Given the description of an element on the screen output the (x, y) to click on. 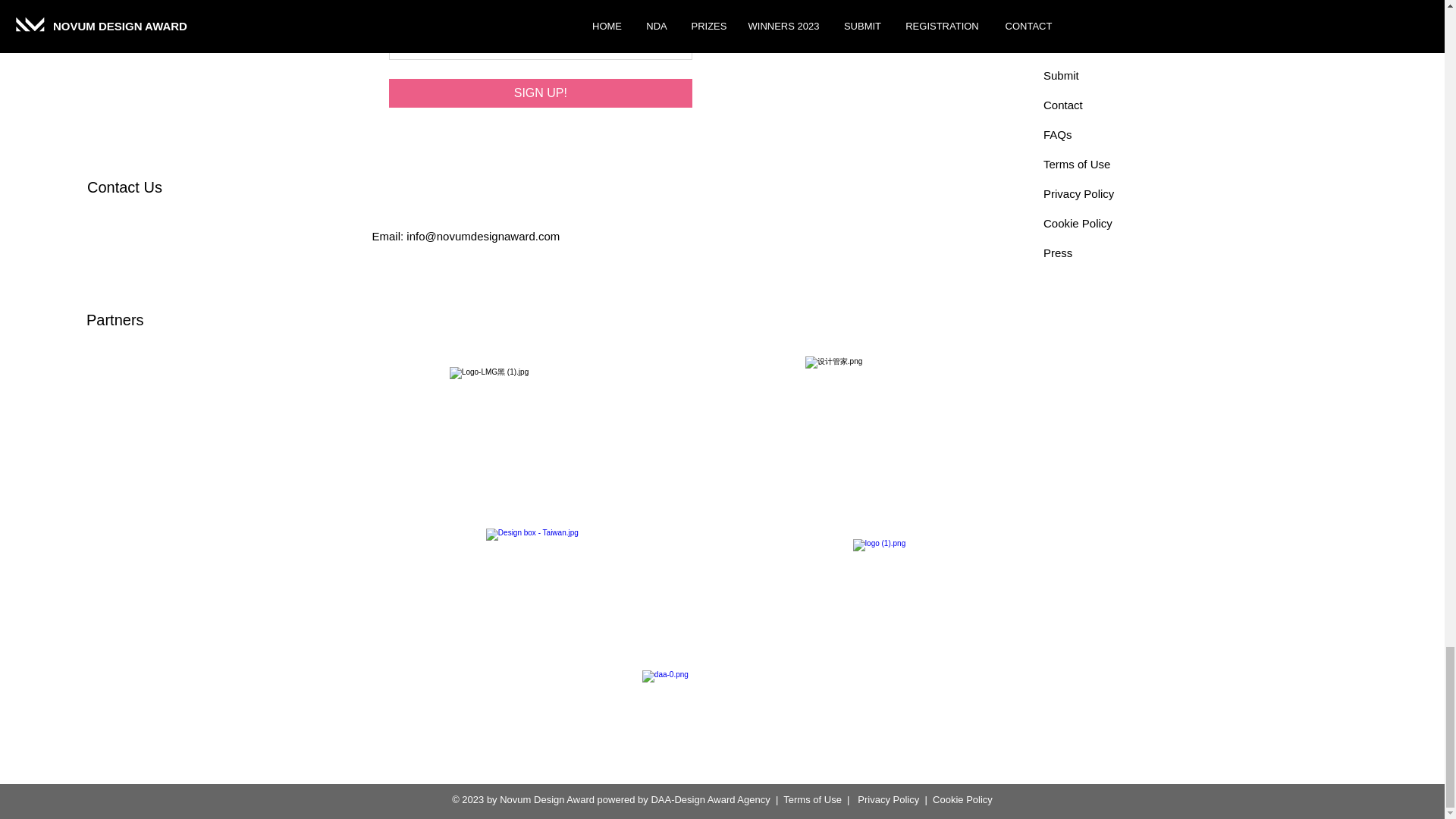
Contact (1063, 104)
FAQs (1057, 133)
Cookie Policy (1077, 223)
Press (1057, 252)
Terms of Use (1076, 164)
Privacy Policy (1078, 193)
DAA-Design Award Agency (710, 799)
Submit (1060, 74)
Fees and Dates (1083, 15)
Terms of Use (812, 799)
